Given the description of an element on the screen output the (x, y) to click on. 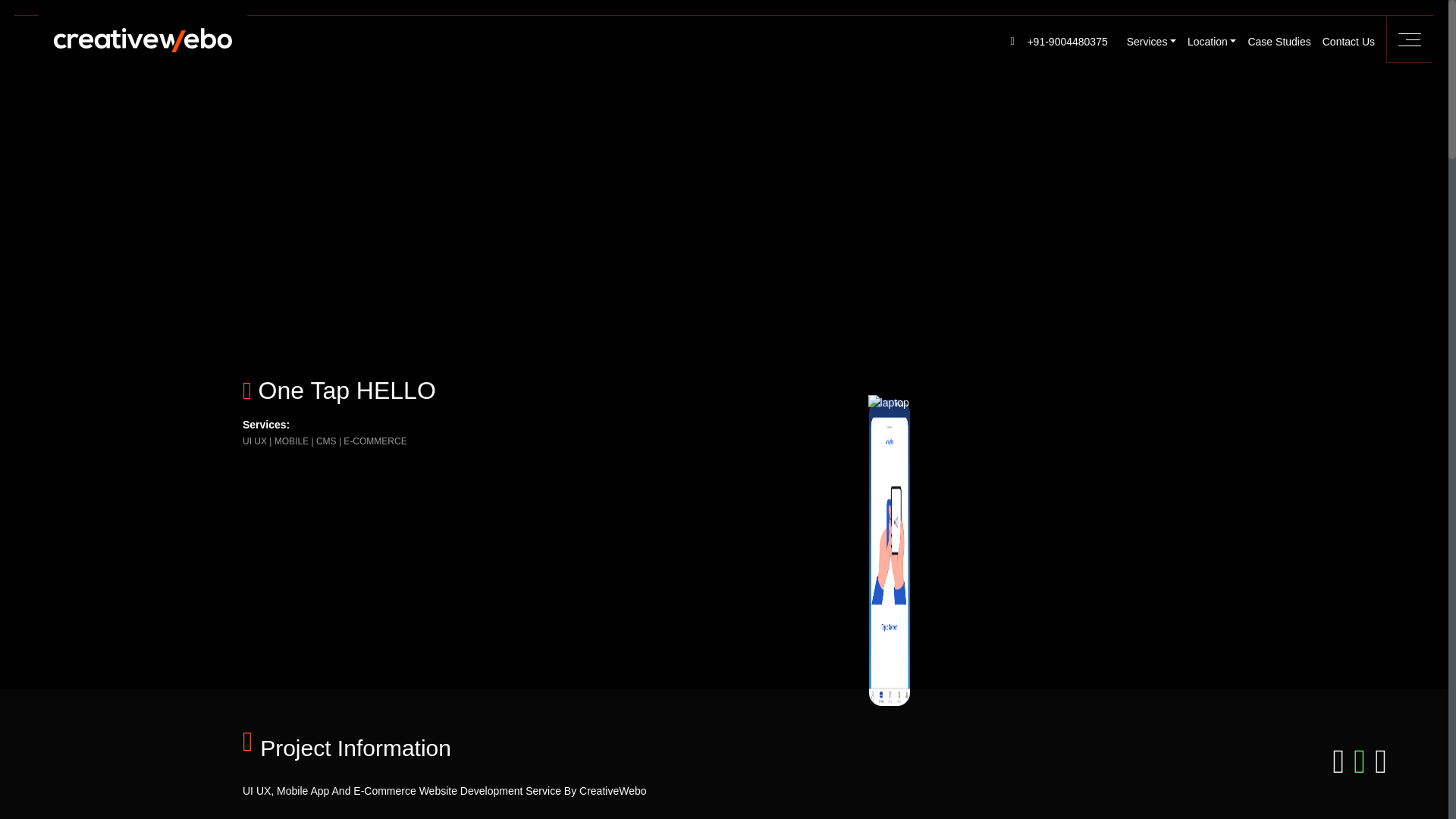
Case Studies (1273, 40)
Location (1206, 40)
Services (1145, 40)
Contact Us (1342, 40)
